Given the description of an element on the screen output the (x, y) to click on. 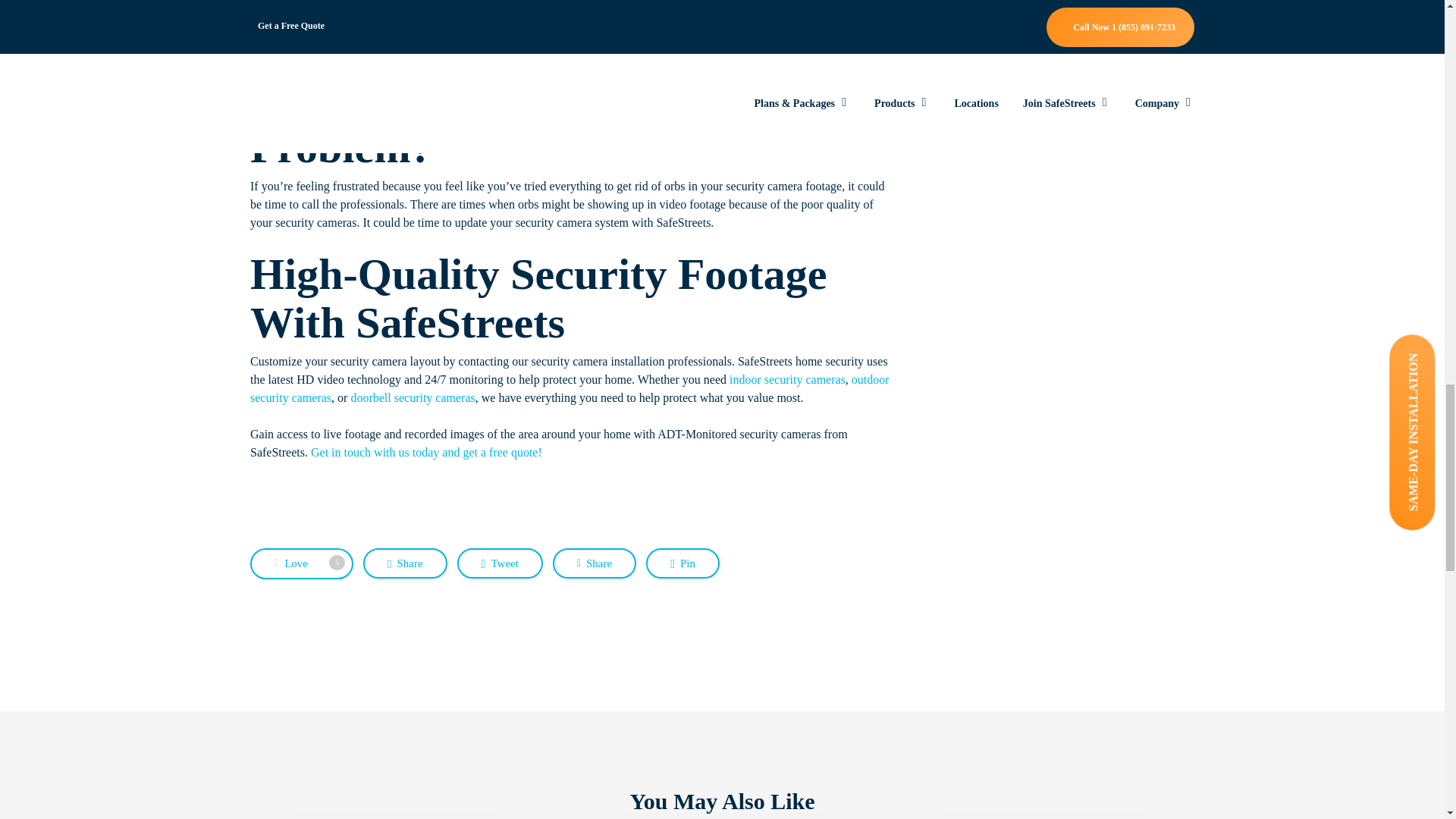
outdoor security cameras (569, 388)
Pin this (682, 562)
Share this (594, 562)
indoor security cameras (787, 379)
Share (301, 563)
Share this (404, 562)
Share (404, 562)
Love this (594, 562)
Get in touch with us today and get a free quote! (301, 563)
doorbell security cameras (426, 451)
Tweet (412, 397)
Tweet this (500, 562)
Pin (500, 562)
